Given the description of an element on the screen output the (x, y) to click on. 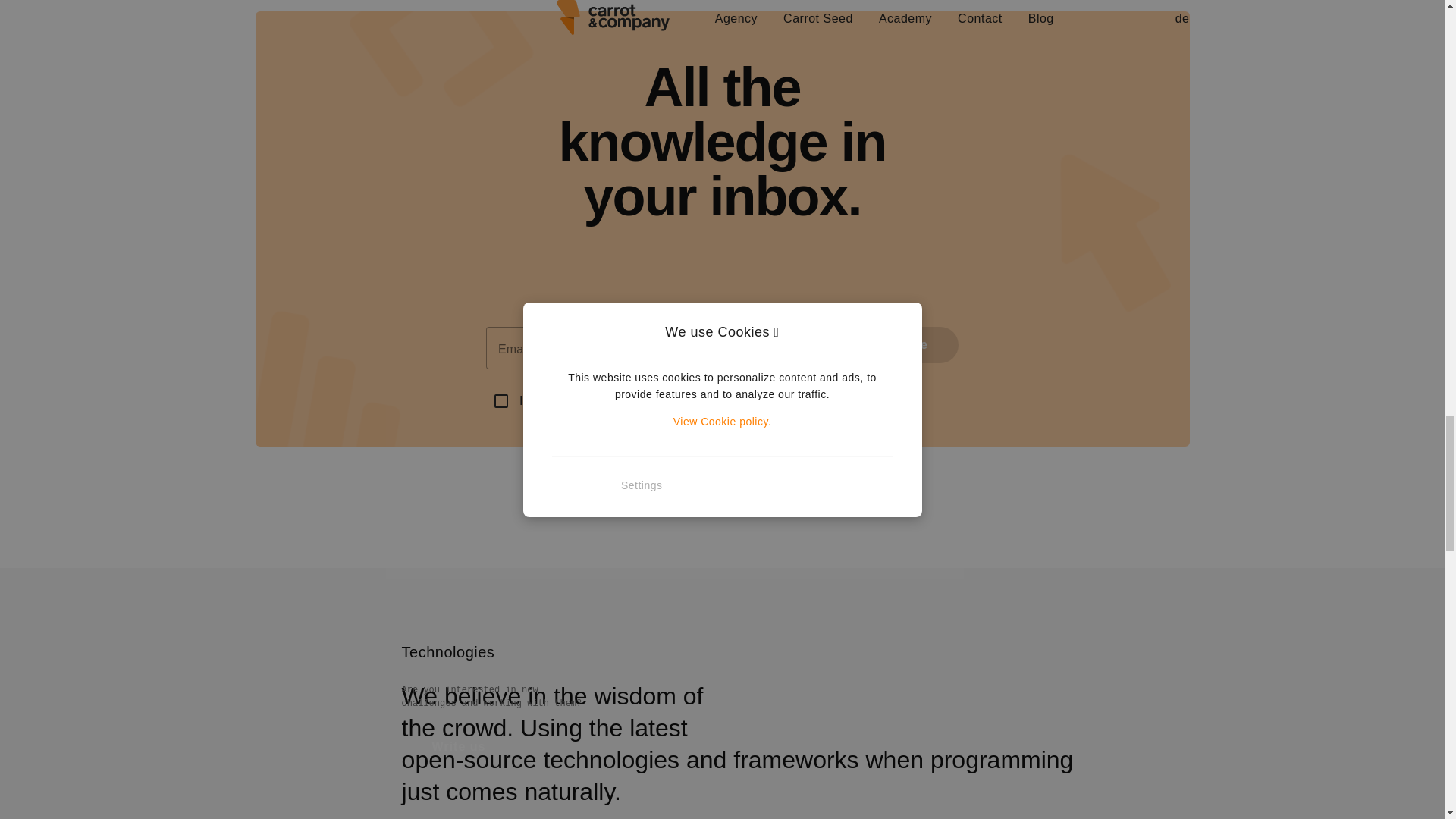
Subscribe (895, 344)
